Given the description of an element on the screen output the (x, y) to click on. 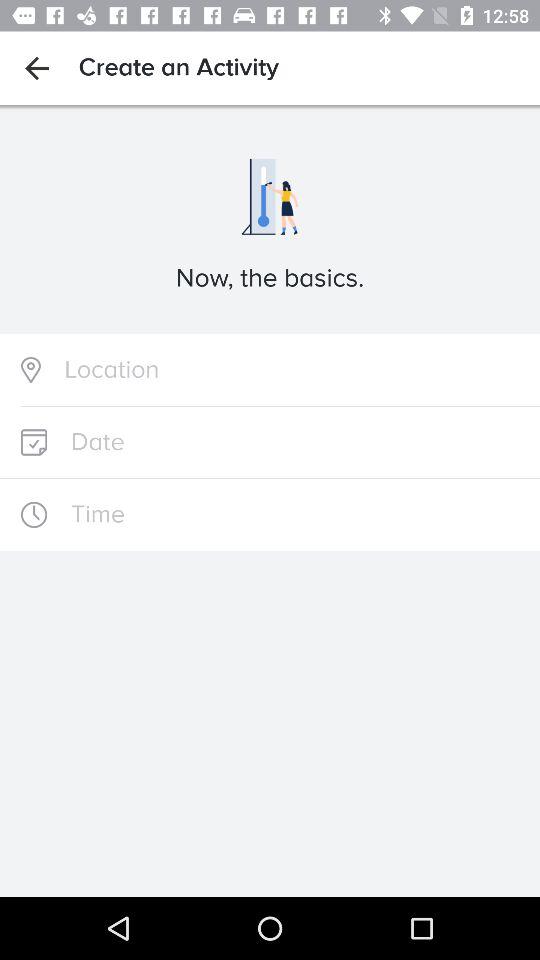
location icon (270, 370)
